Given the description of an element on the screen output the (x, y) to click on. 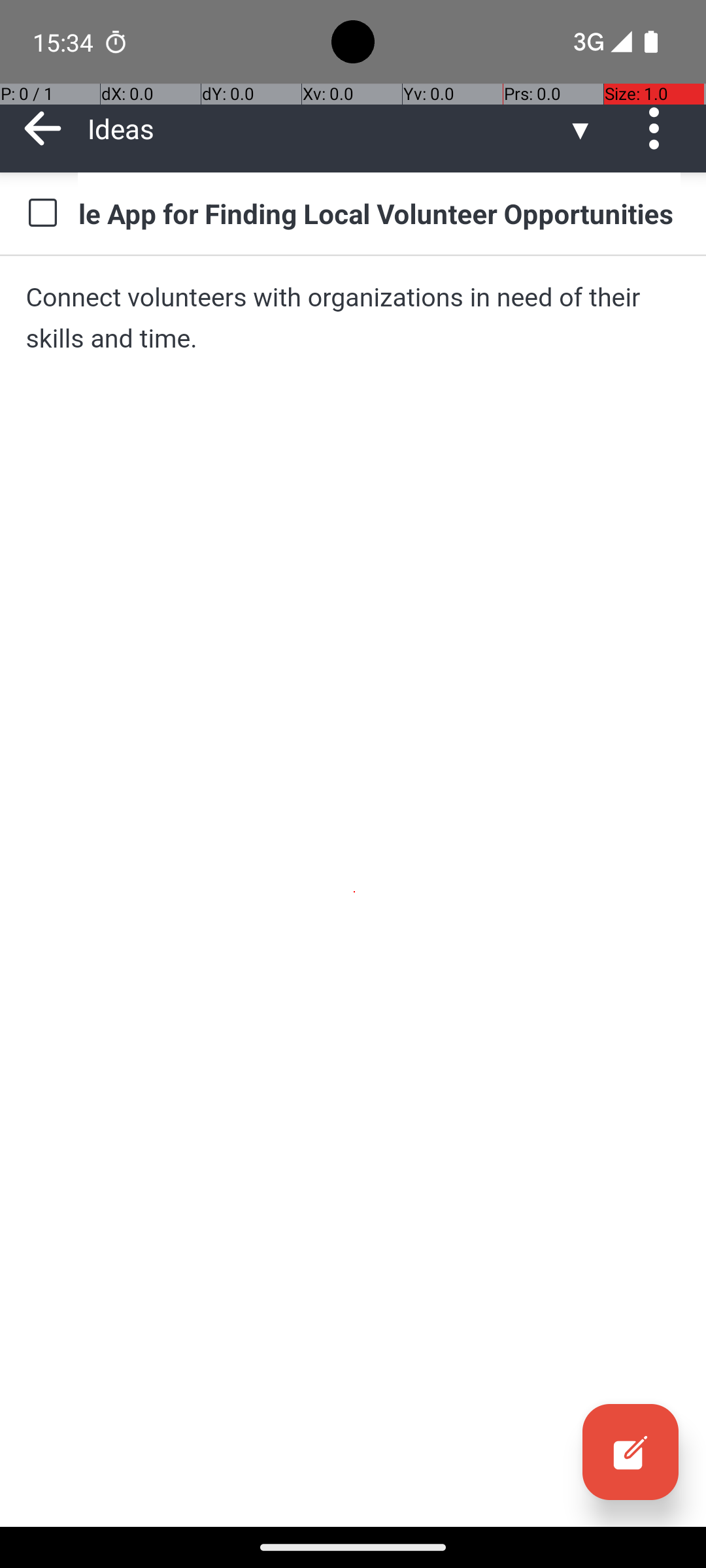
Connect volunteers with organizations in need of their skills and time. Element type: android.widget.TextView (352, 317)
